Given the description of an element on the screen output the (x, y) to click on. 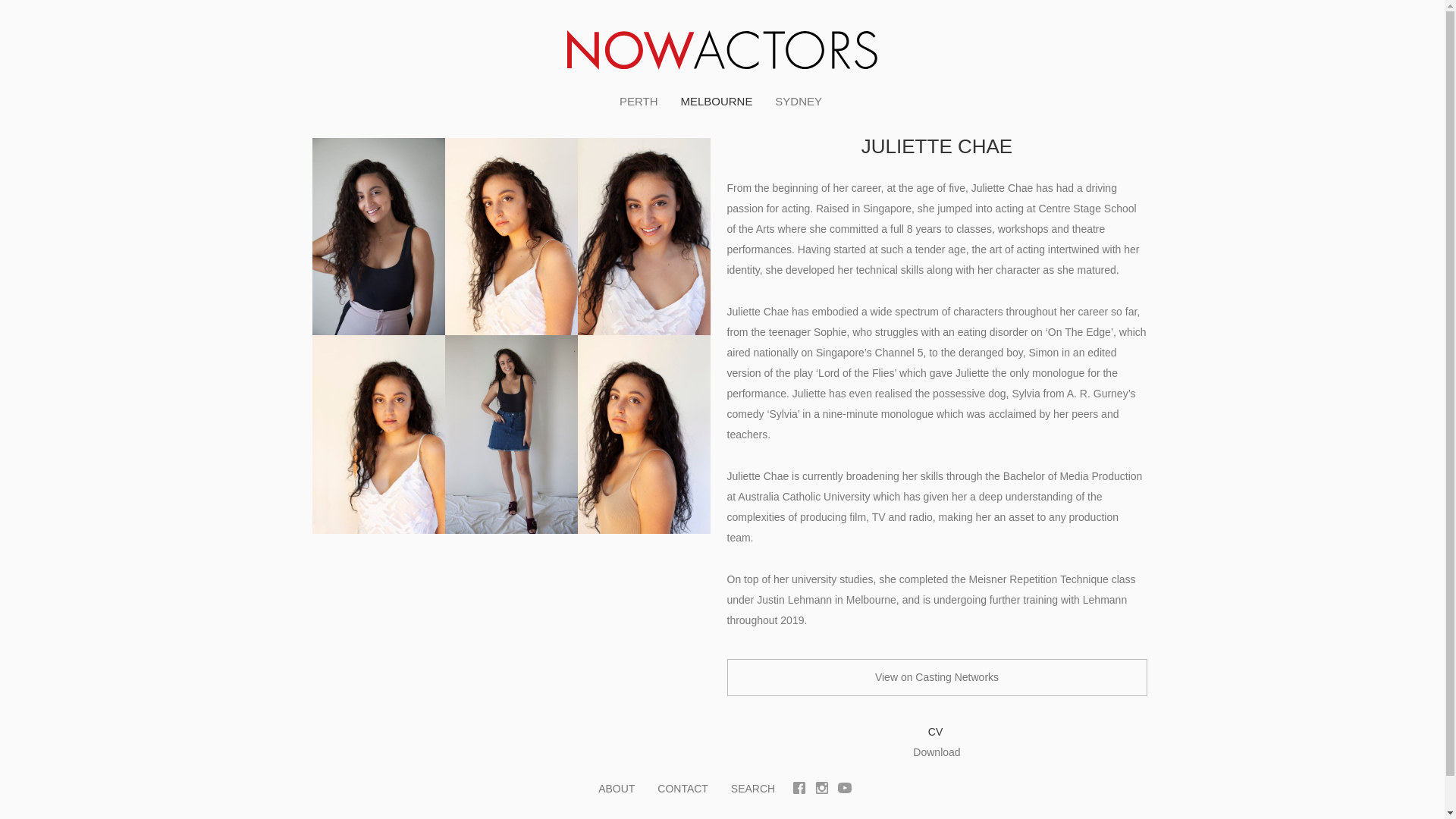
ABOUT Element type: text (616, 788)
Download Element type: text (936, 752)
PERTH Element type: text (638, 100)
MELBOURNE Element type: text (715, 100)
SYDNEY Element type: text (798, 100)
View on Casting Networks Element type: text (936, 677)
SEARCH Element type: text (752, 788)
CONTACT Element type: text (682, 788)
